Given the description of an element on the screen output the (x, y) to click on. 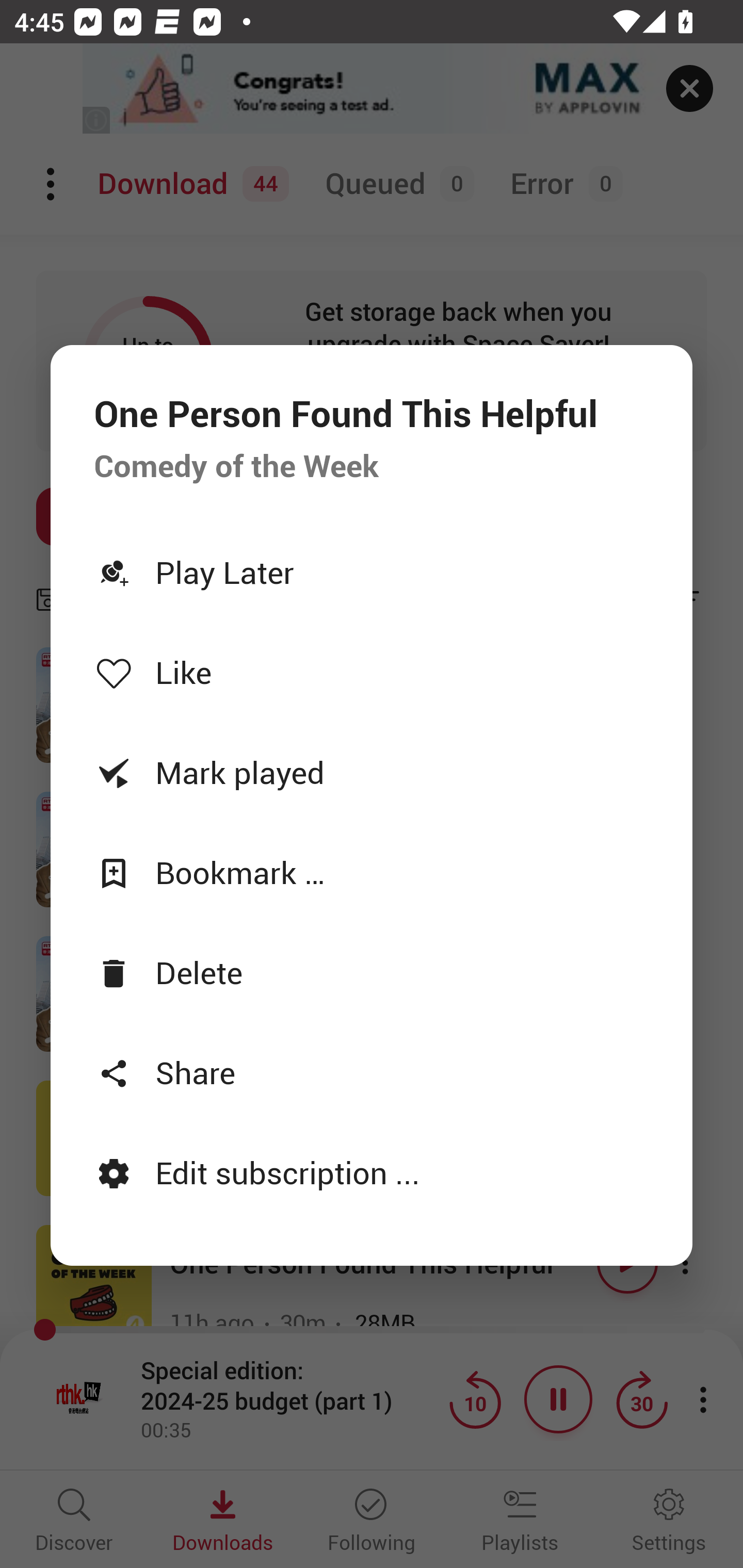
Play Later (371, 572)
Like (371, 672)
Mark played (371, 771)
Bookmark … (371, 871)
Delete (371, 971)
Share (371, 1072)
Edit subscription ... (371, 1172)
